Given the description of an element on the screen output the (x, y) to click on. 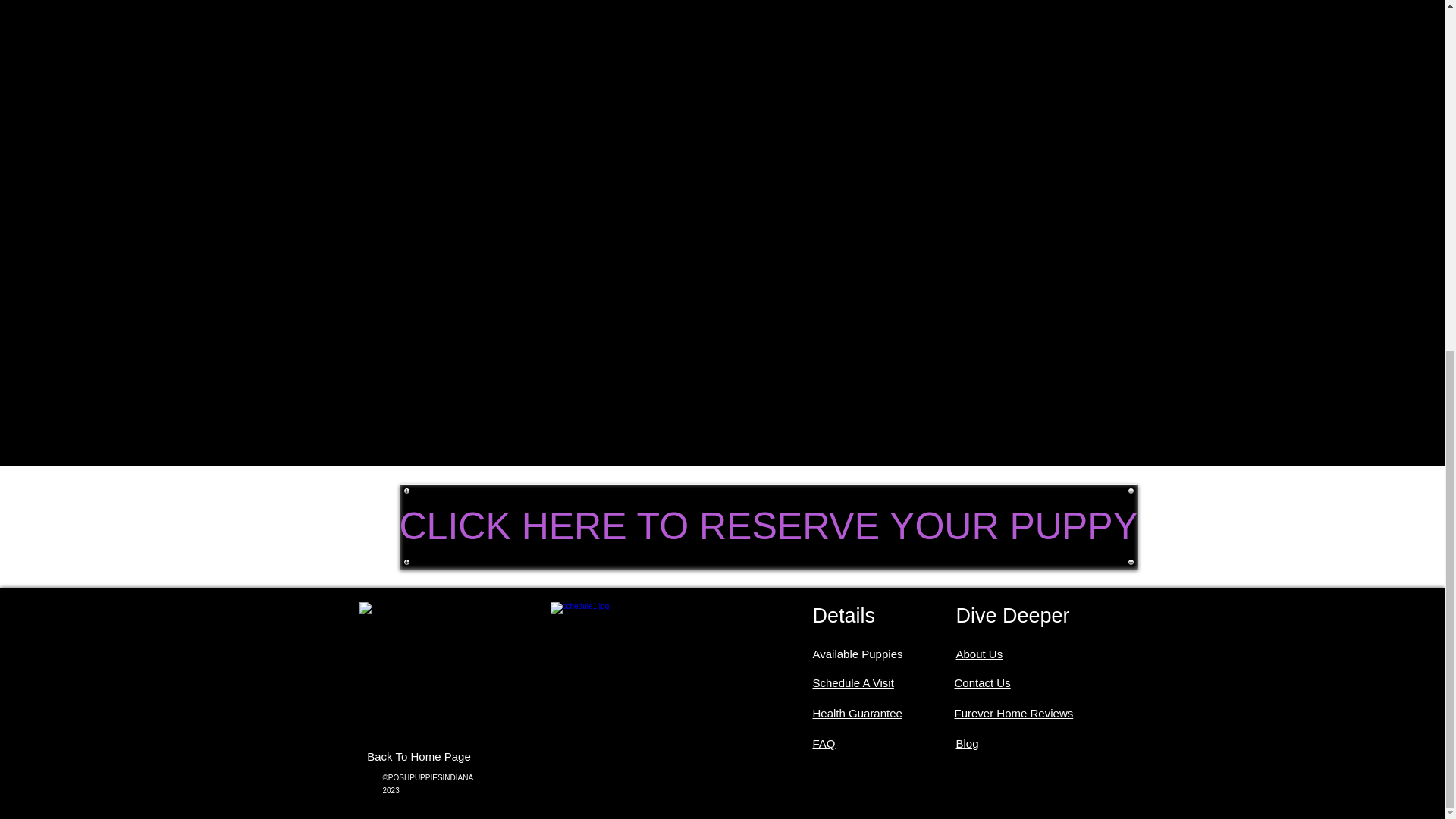
FAQ (823, 743)
Contact Us (981, 682)
Health Guarantee (857, 712)
CLICK HERE TO RESERVE YOUR PUPPY (767, 526)
Back To Home Page (419, 757)
Schedule A Visit (852, 682)
Furever Home Reviews (1013, 712)
Blog (966, 743)
About Us (979, 653)
